Given the description of an element on the screen output the (x, y) to click on. 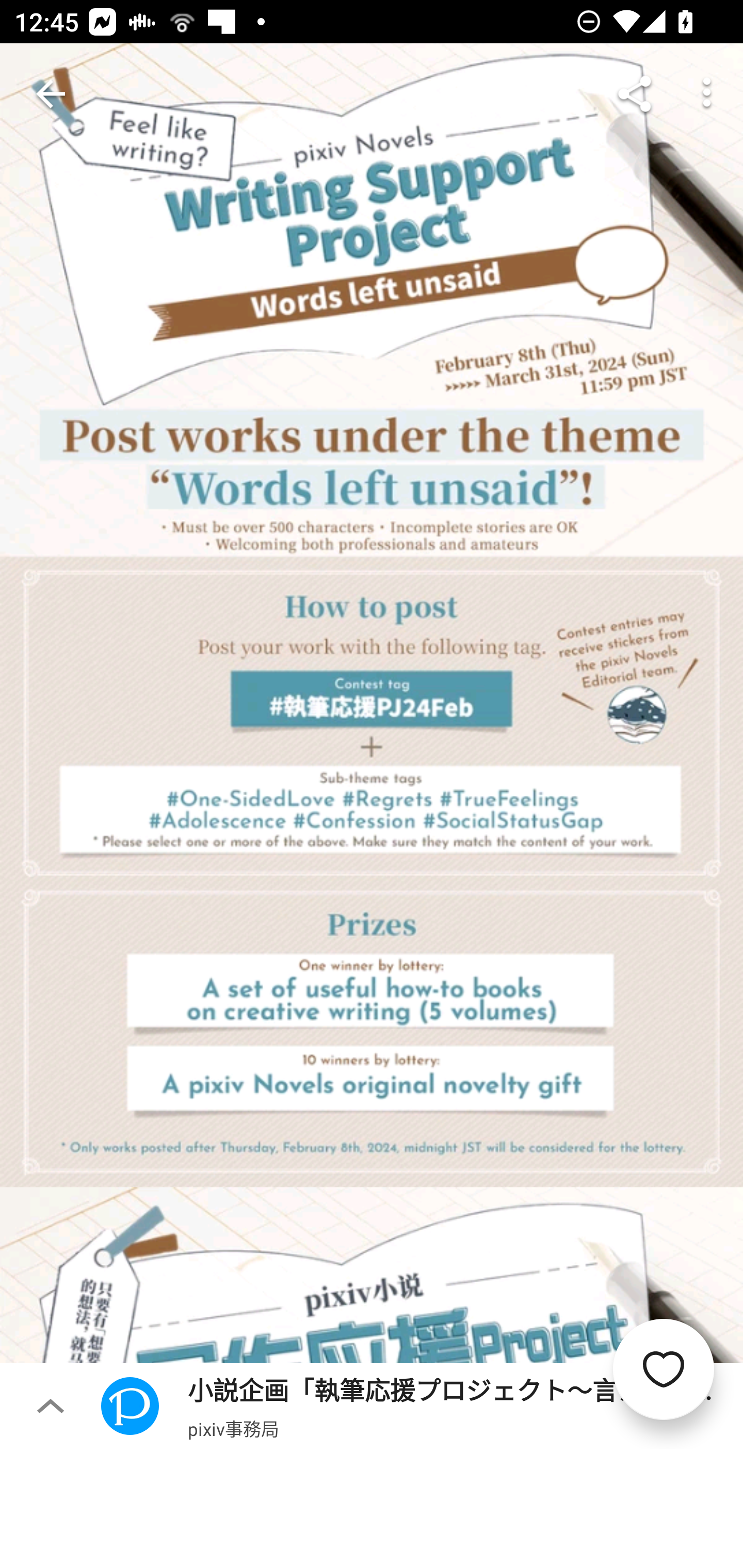
Share (634, 93)
More options (706, 93)
小説企画「執筆応援プロジェクト～言えなかったひとこと～」開催 pixiv事務局 (422, 1405)
pixiv事務局 (233, 1427)
